Given the description of an element on the screen output the (x, y) to click on. 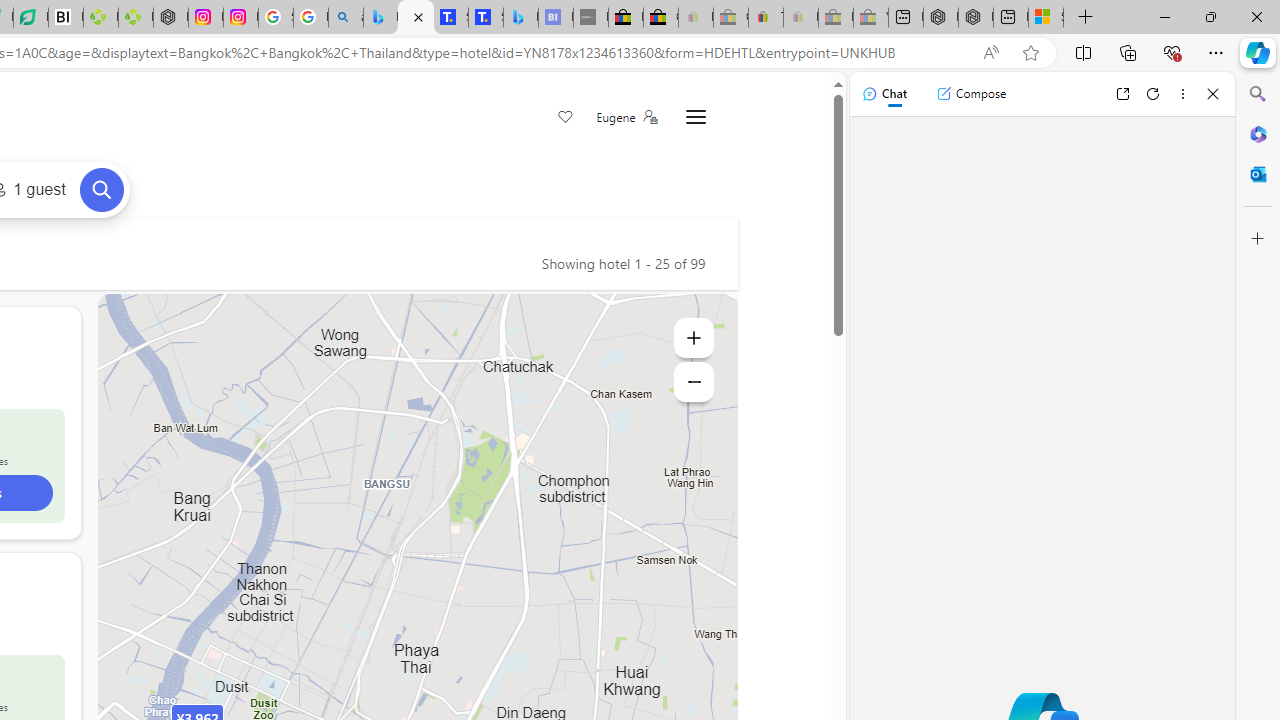
Yard, Garden & Outdoor Living - Sleeping (870, 17)
Nordace - Nordace Edin Collection (170, 17)
Microsoft Bing Travel - Flights from Hong Kong to Bangkok (380, 17)
